Given the description of an element on the screen output the (x, y) to click on. 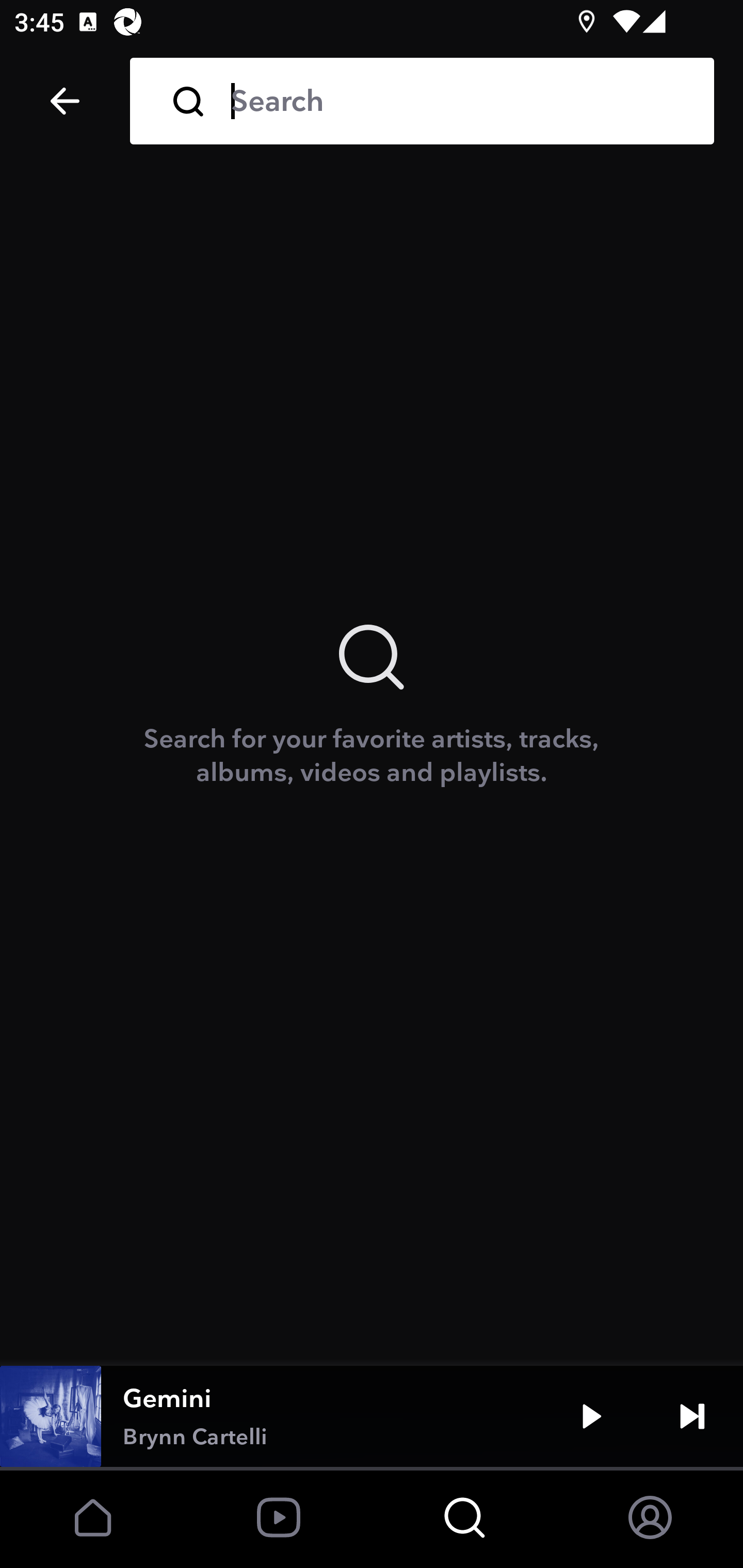
Search (457, 100)
Gemini Brynn Cartelli Play (371, 1416)
Play (590, 1416)
